Given the description of an element on the screen output the (x, y) to click on. 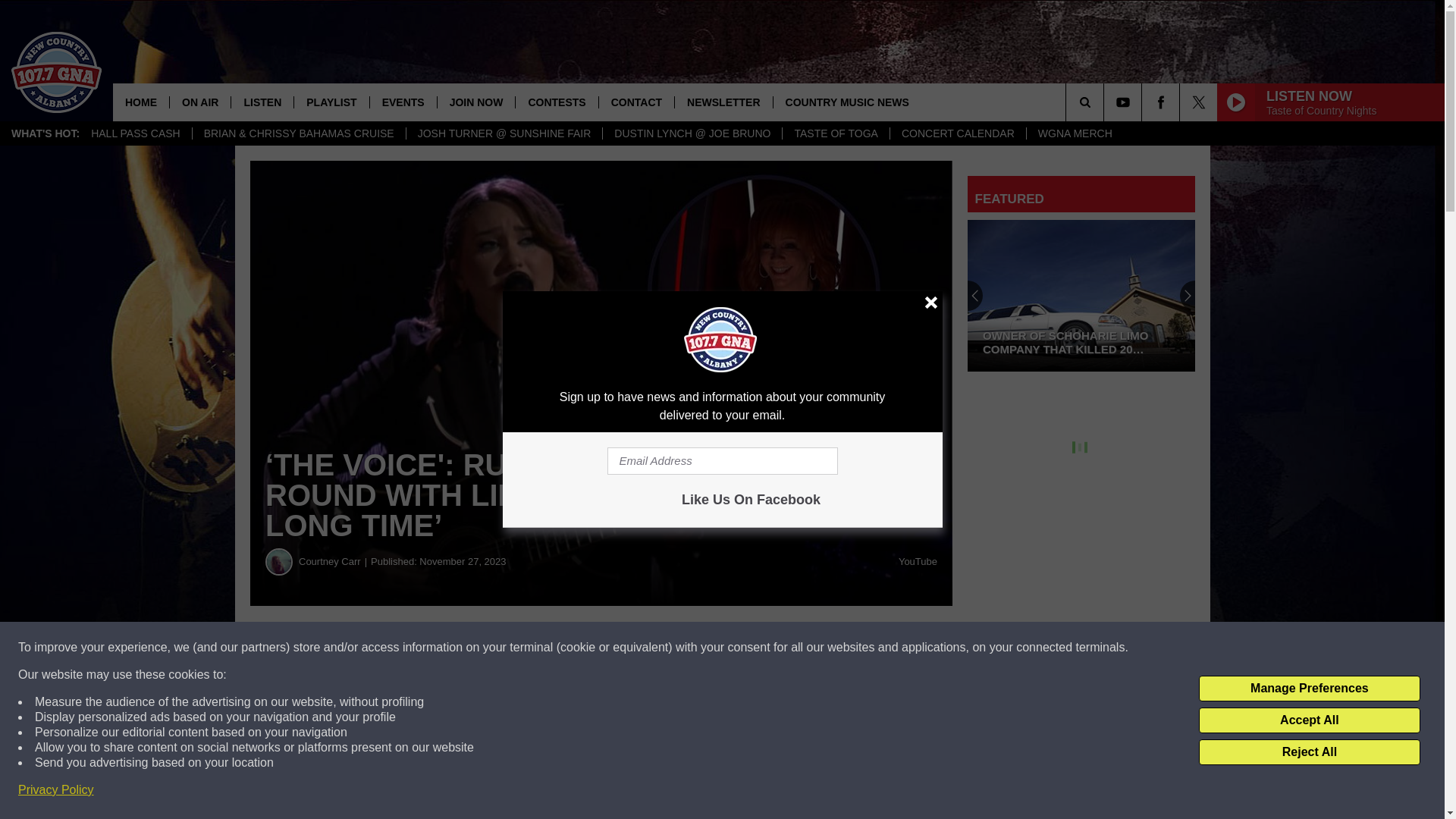
TWEET (741, 647)
Reject All (1309, 751)
PLAYLIST (331, 102)
CONCERT CALENDAR (957, 133)
HOME (140, 102)
ON AIR (199, 102)
HALL PASS CASH (136, 133)
Privacy Policy (55, 789)
Accept All (1309, 720)
TASTE OF TOGA (834, 133)
SHARE (460, 647)
SEARCH (1106, 102)
LISTEN (262, 102)
WGNA MERCH (1075, 133)
EVENTS (402, 102)
